Given the description of an element on the screen output the (x, y) to click on. 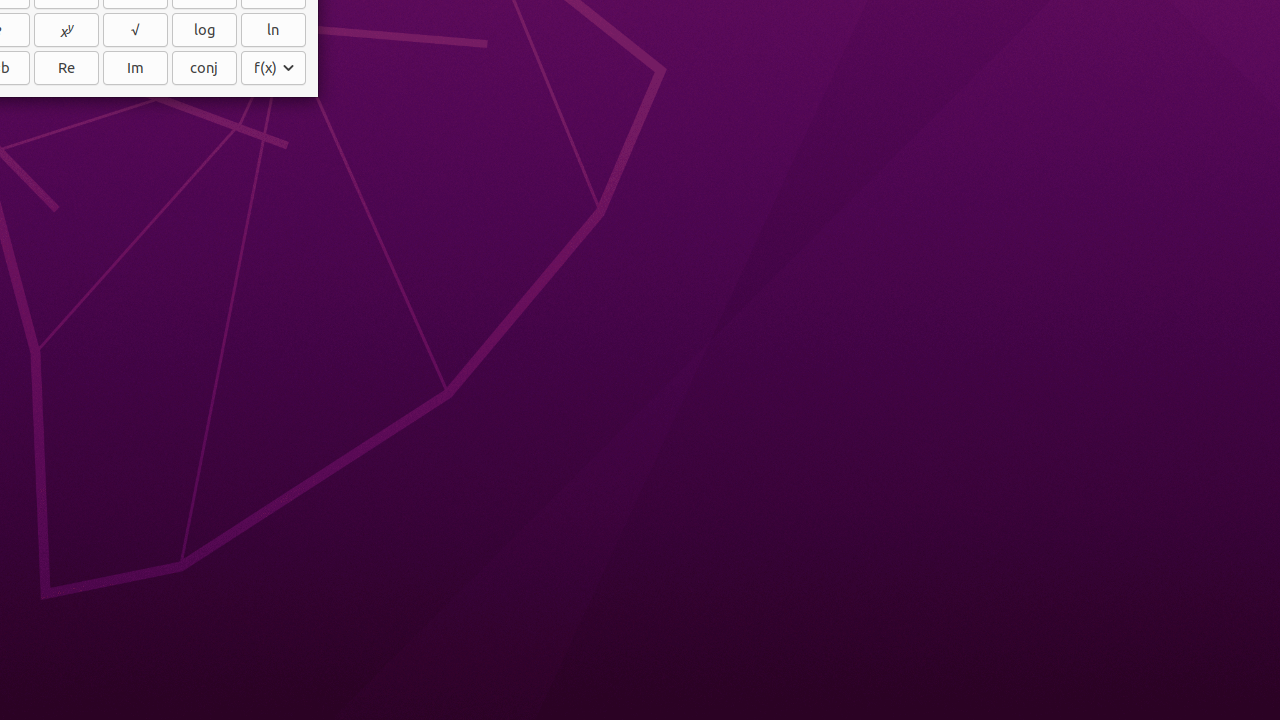
Im Element type: push-button (135, 68)
ln Element type: push-button (273, 29)
Re Element type: push-button (66, 68)
conj Element type: push-button (204, 68)
log Element type: push-button (204, 29)
